Given the description of an element on the screen output the (x, y) to click on. 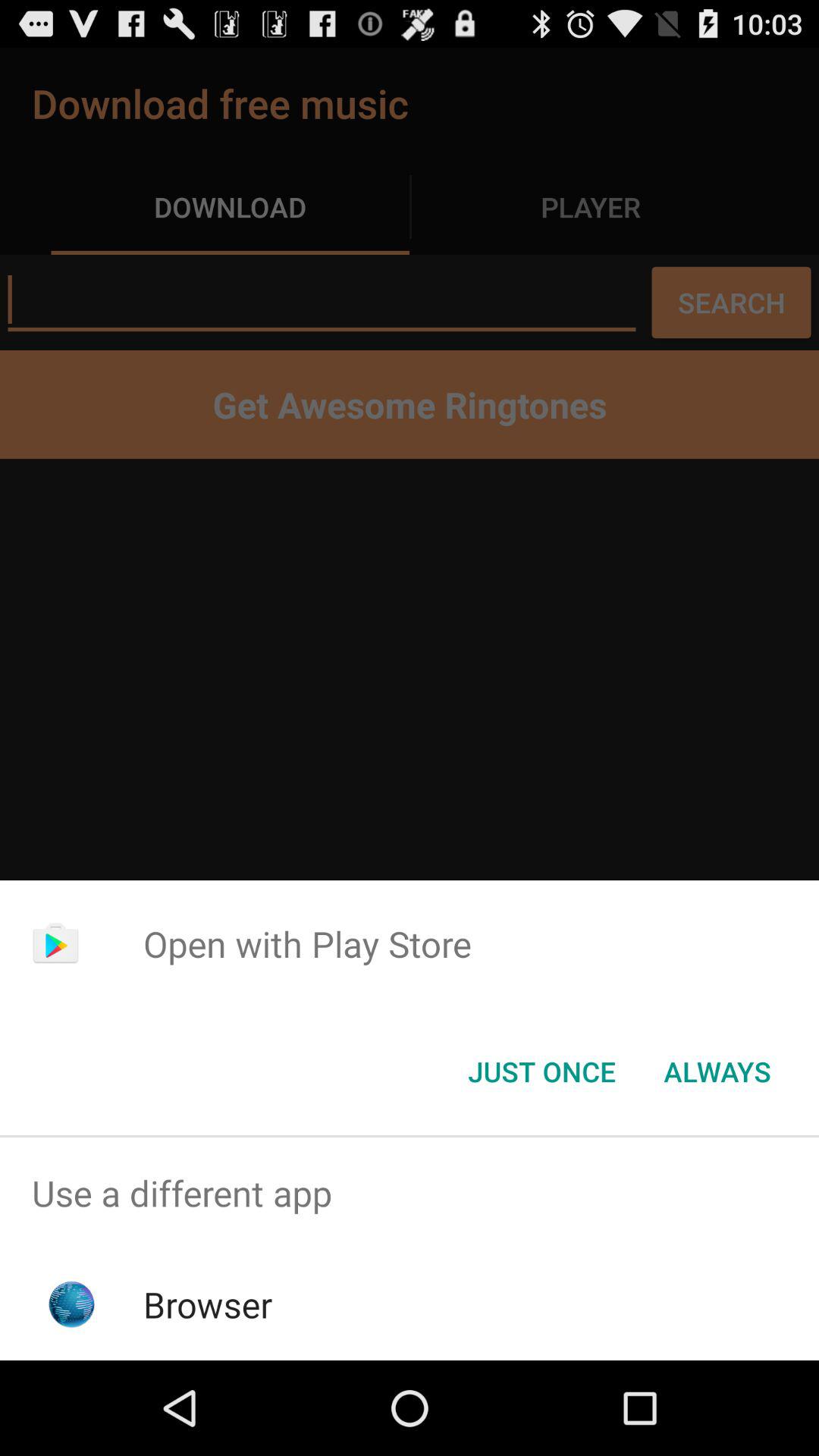
swipe to always icon (717, 1071)
